Given the description of an element on the screen output the (x, y) to click on. 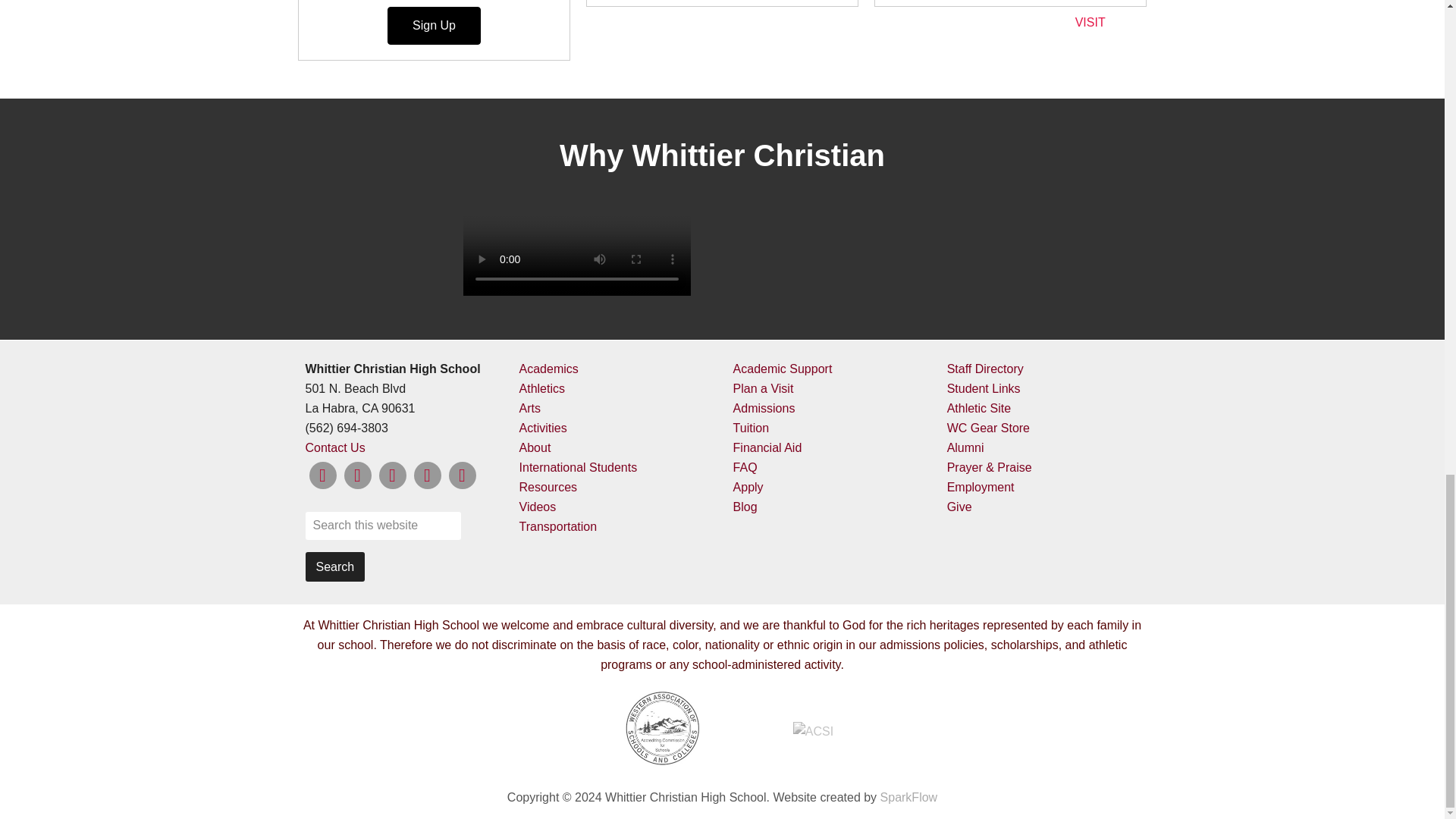
FAQ (745, 467)
Admissions (763, 408)
Activities (543, 427)
Videos (537, 506)
Facebook (322, 474)
Plan a Visit (763, 388)
Search (334, 566)
Search (334, 566)
Transportation (557, 526)
youtube (462, 474)
